Given the description of an element on the screen output the (x, y) to click on. 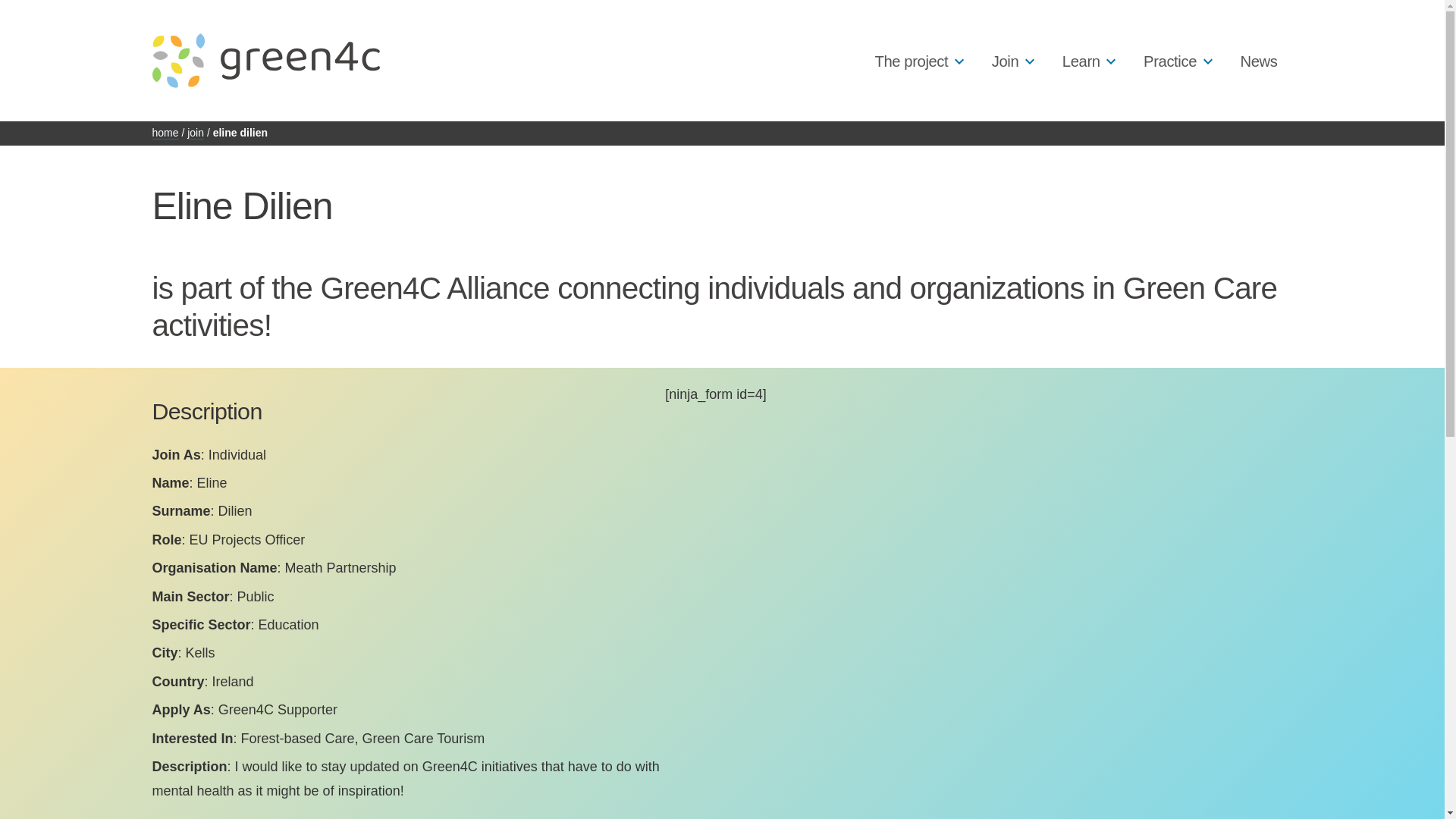
home (164, 132)
News (1258, 61)
Learn (1081, 61)
Practice (1169, 61)
Join (1005, 61)
join (195, 132)
The project (911, 61)
